Given the description of an element on the screen output the (x, y) to click on. 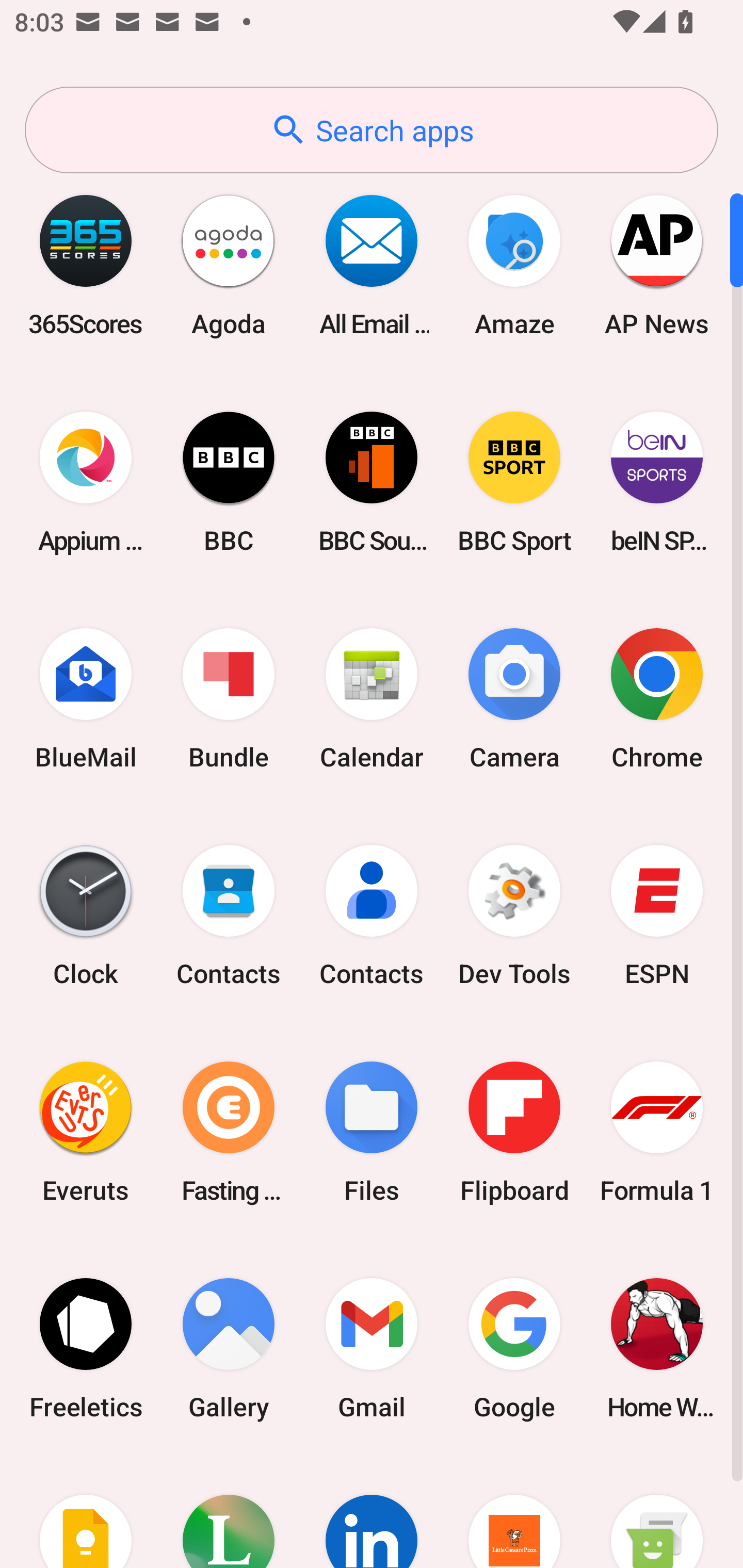
  Search apps (371, 130)
365Scores (85, 264)
Agoda (228, 264)
All Email Connect (371, 264)
Amaze (514, 264)
AP News (656, 264)
Appium Settings (85, 482)
BBC (228, 482)
BBC Sounds (371, 482)
BBC Sport (514, 482)
beIN SPORTS (656, 482)
BlueMail (85, 699)
Bundle (228, 699)
Calendar (371, 699)
Camera (514, 699)
Chrome (656, 699)
Clock (85, 915)
Contacts (228, 915)
Contacts (371, 915)
Dev Tools (514, 915)
ESPN (656, 915)
Everuts (85, 1131)
Fasting Coach (228, 1131)
Files (371, 1131)
Flipboard (514, 1131)
Formula 1 (656, 1131)
Freeletics (85, 1348)
Gallery (228, 1348)
Gmail (371, 1348)
Google (514, 1348)
Home Workout (656, 1348)
Keep Notes (85, 1512)
Lifesum (228, 1512)
LinkedIn (371, 1512)
Little Caesars Pizza (514, 1512)
Messaging (656, 1512)
